Given the description of an element on the screen output the (x, y) to click on. 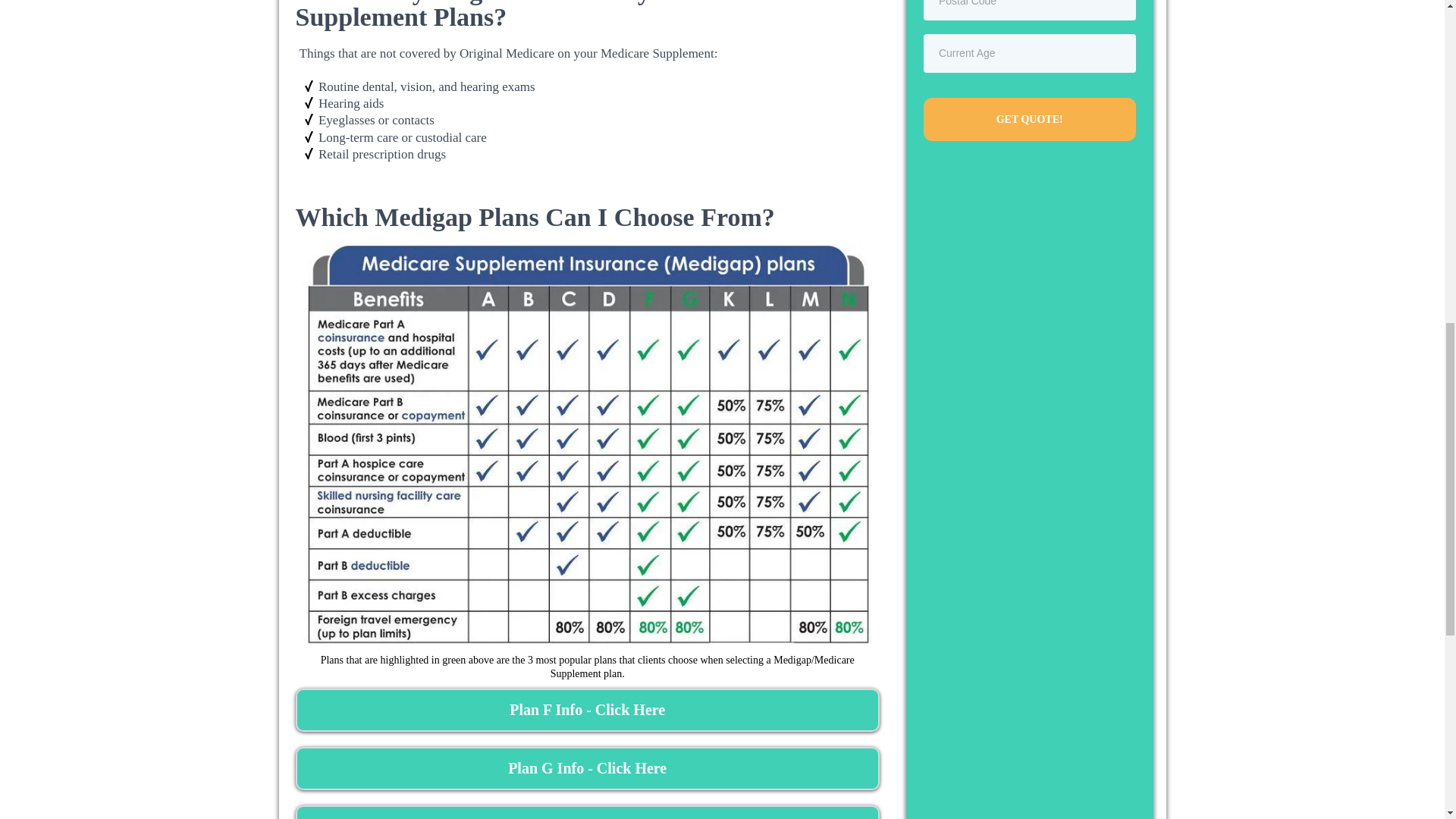
Plan N Info - Click Here (587, 812)
Plan F Info - Click Here (587, 710)
Plan G Info - Click Here (587, 768)
GET QUOTE! (1029, 118)
